Given the description of an element on the screen output the (x, y) to click on. 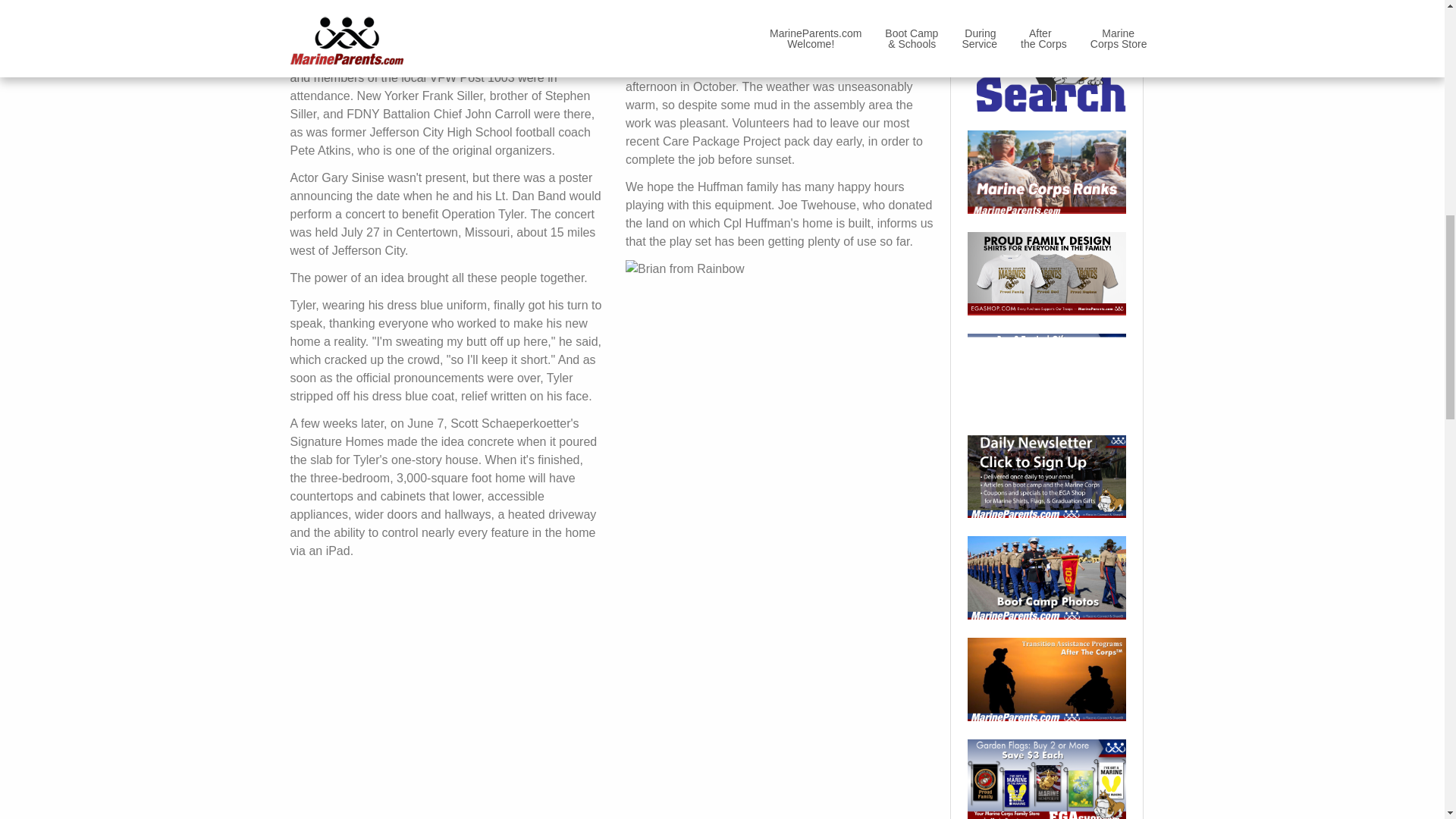
Sign up for our daily newsletter! (1046, 476)
Click to search our websites (1046, 56)
LET YOUR PRIDE SHINE WITH FAMILY DESIGNS! (1046, 273)
Tactical Gear for Your Marine (1046, 374)
Marine Corps Ranks in the USMC (1046, 171)
